Given the description of an element on the screen output the (x, y) to click on. 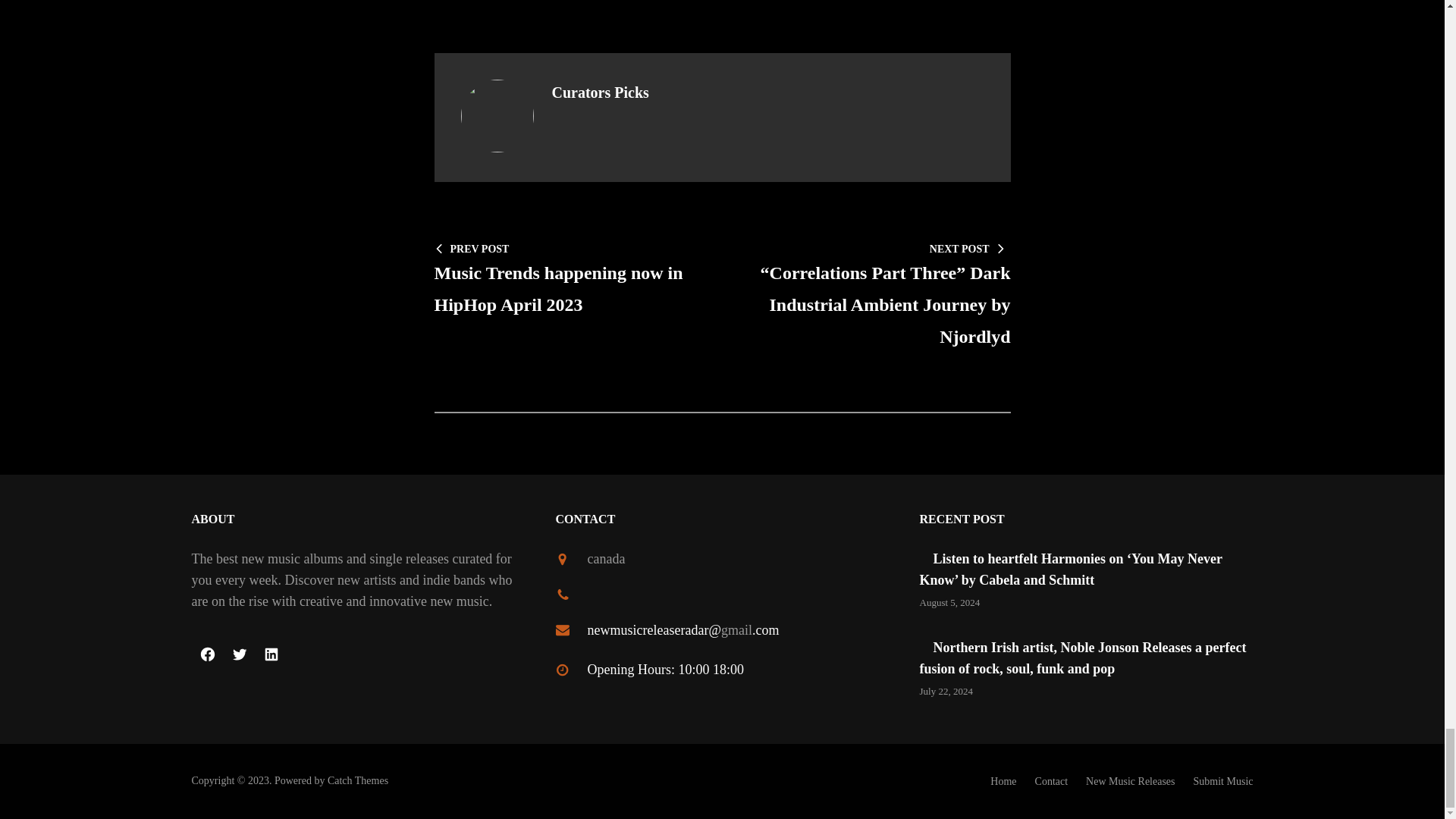
Opening Hours: 10:00 18:00 (665, 669)
.com (765, 630)
LinkedIn (270, 654)
Twitter (238, 654)
Facebook (206, 654)
Catch Themes (569, 277)
